Given the description of an element on the screen output the (x, y) to click on. 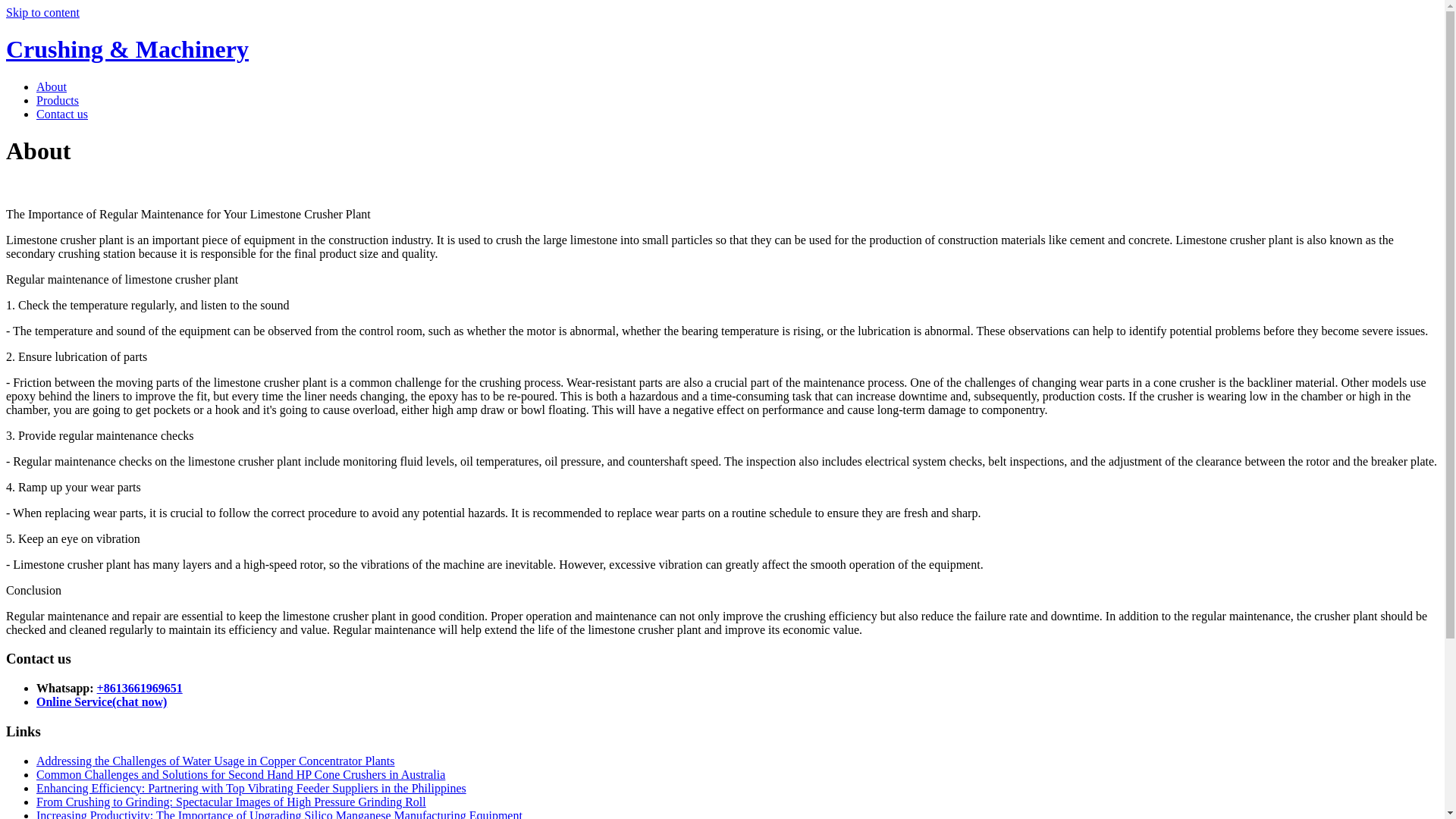
Skip to content (42, 11)
Products (57, 100)
About (51, 86)
Home (126, 49)
Contact us (61, 113)
